Given the description of an element on the screen output the (x, y) to click on. 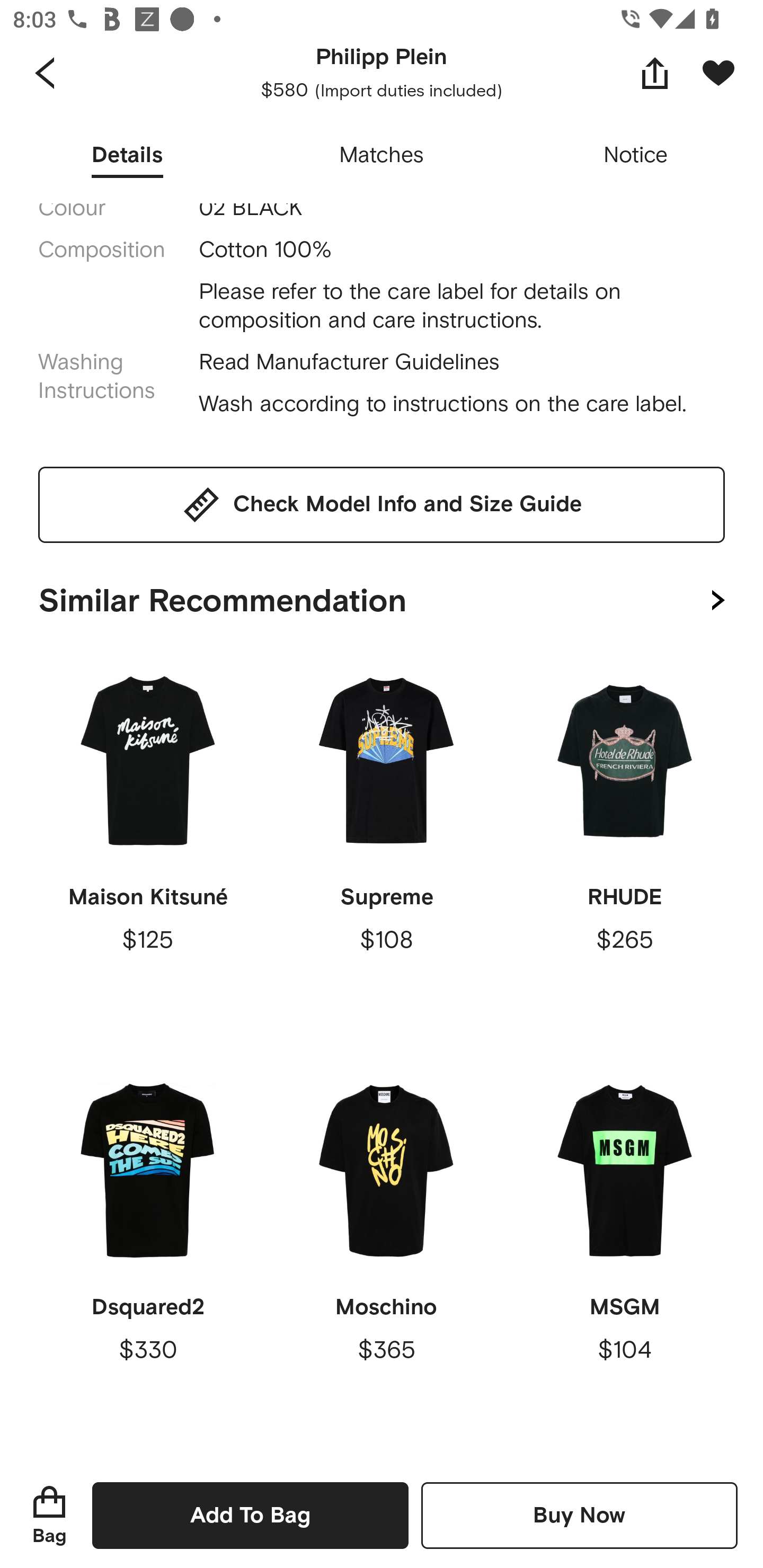
Matches (381, 155)
Notice (635, 155)
 Check Model Info and Size Guide (381, 504)
Similar Recommendation (381, 596)
Maison Kitsuné $125 (147, 846)
Supreme $108 (385, 846)
RHUDE $265 (624, 846)
Dsquared2 $330 (147, 1256)
Moschino $365 (385, 1256)
MSGM $104 (624, 1256)
Bag (49, 1515)
Add To Bag (250, 1515)
Buy Now (579, 1515)
